Given the description of an element on the screen output the (x, y) to click on. 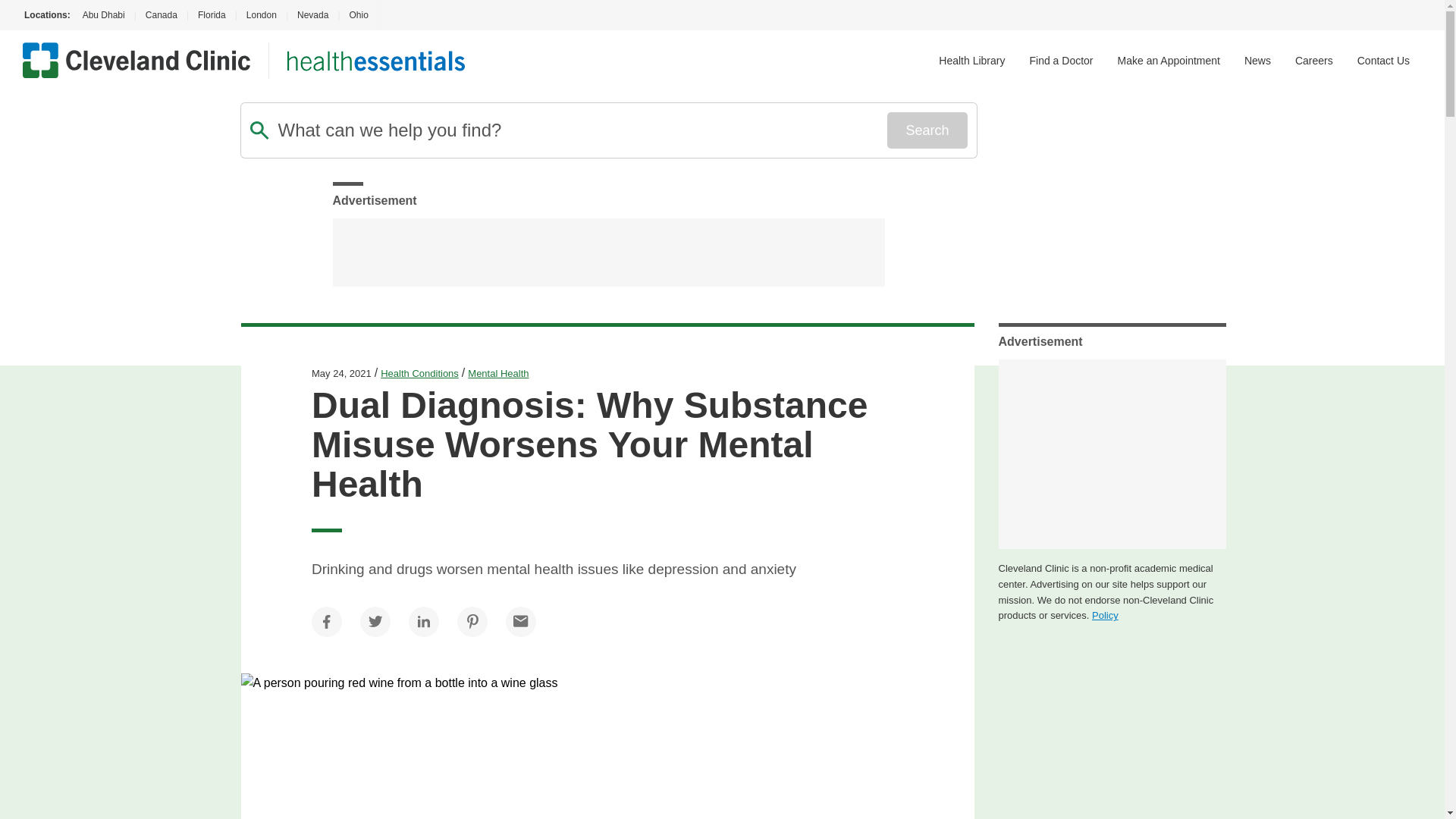
Florida (211, 15)
News (1257, 60)
Abu Dhabi (101, 15)
Contact Us (1382, 60)
Find a Doctor (1061, 60)
Canada (161, 15)
Health Conditions (419, 373)
Nevada (312, 15)
Ohio (358, 15)
Mental Health (497, 373)
